Given the description of an element on the screen output the (x, y) to click on. 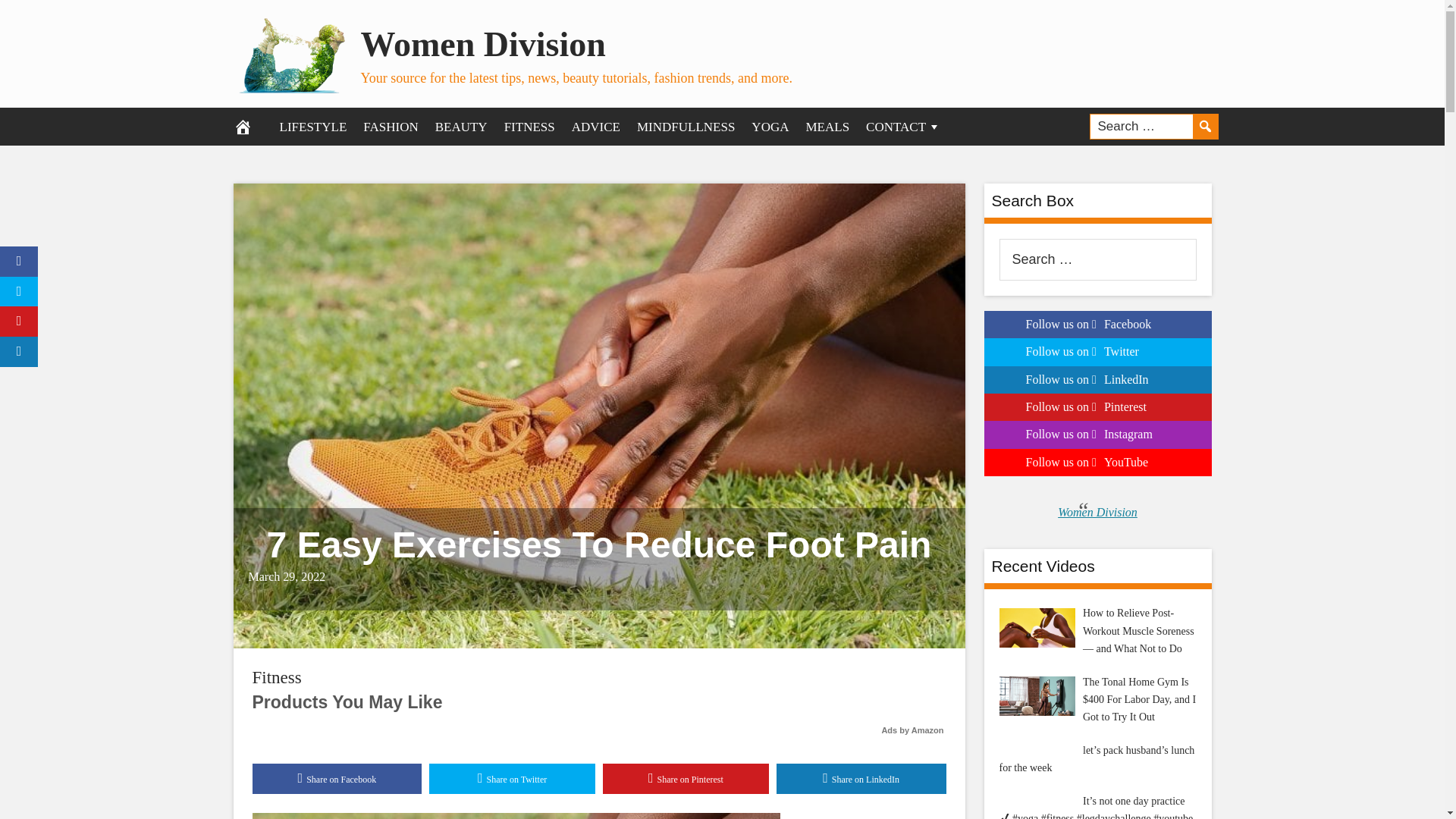
LIFESTYLE (312, 126)
FASHION (390, 126)
MINDFULLNESS (685, 126)
BEAUTY (461, 126)
ADVICE (595, 126)
Fitness (276, 677)
FITNESS (529, 126)
CONTACT (903, 126)
